Given the description of an element on the screen output the (x, y) to click on. 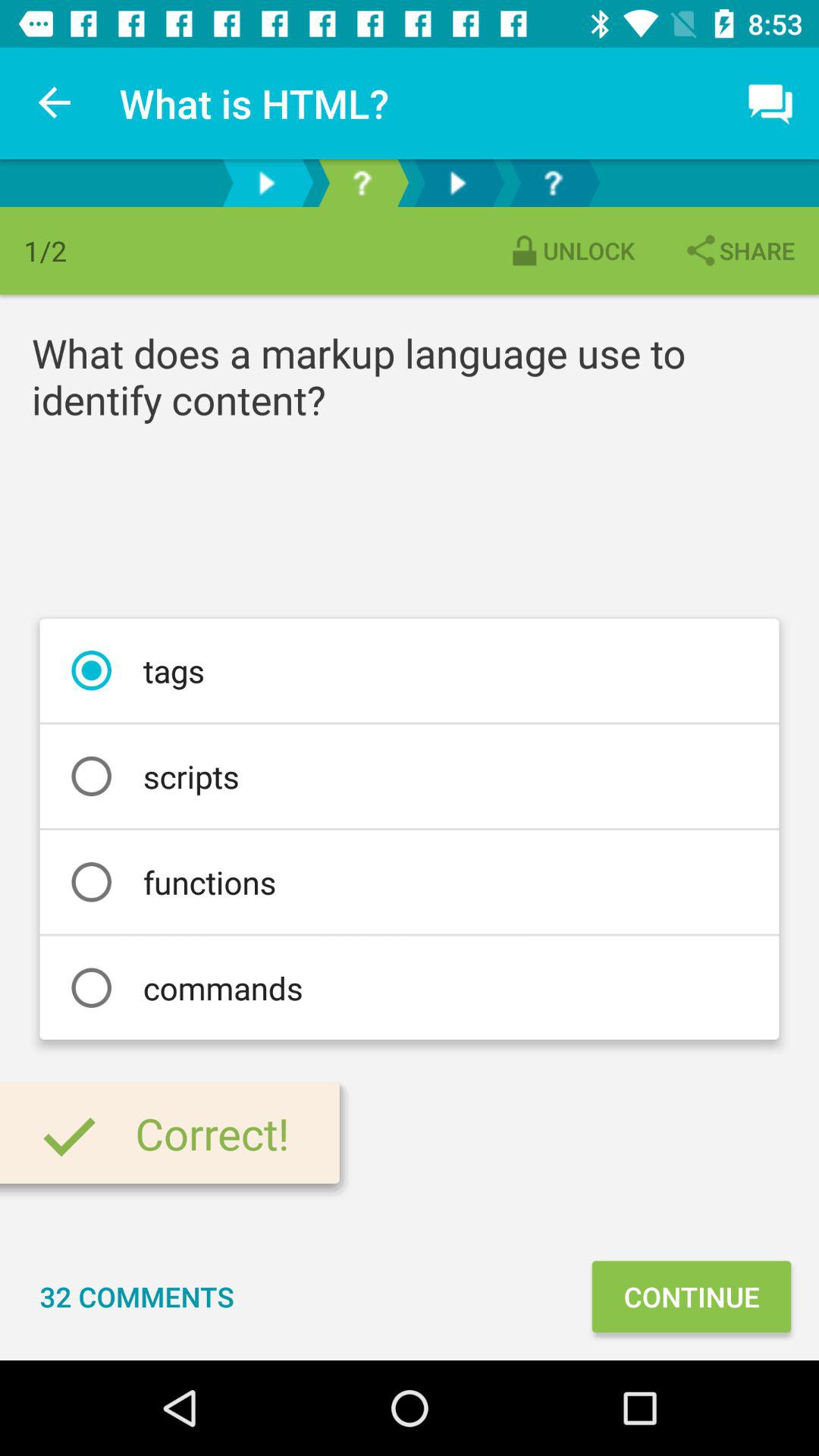
choose item at the bottom right corner (691, 1296)
